Given the description of an element on the screen output the (x, y) to click on. 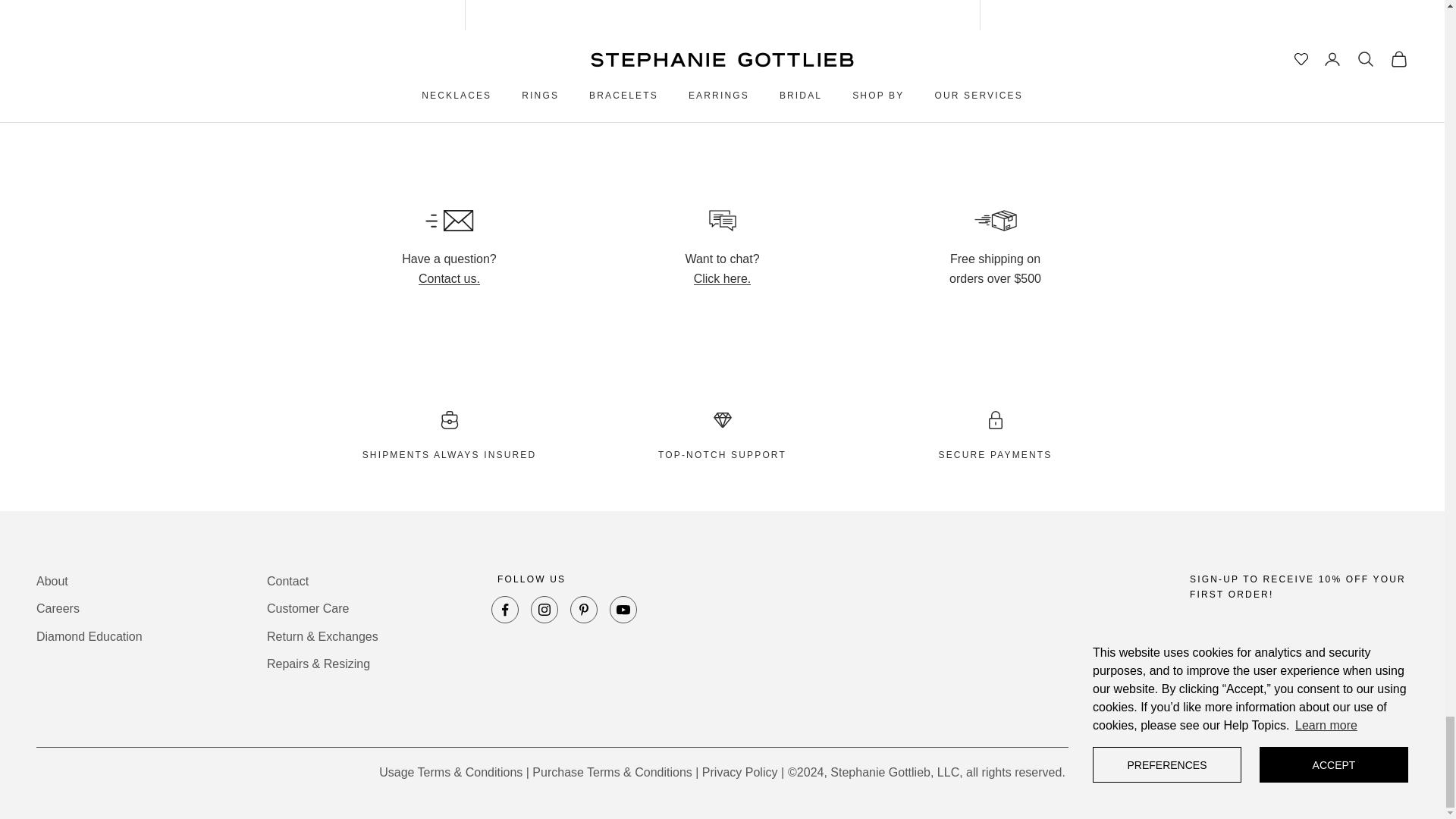
Privacy Policy (739, 771)
Contact Us (449, 278)
